Given the description of an element on the screen output the (x, y) to click on. 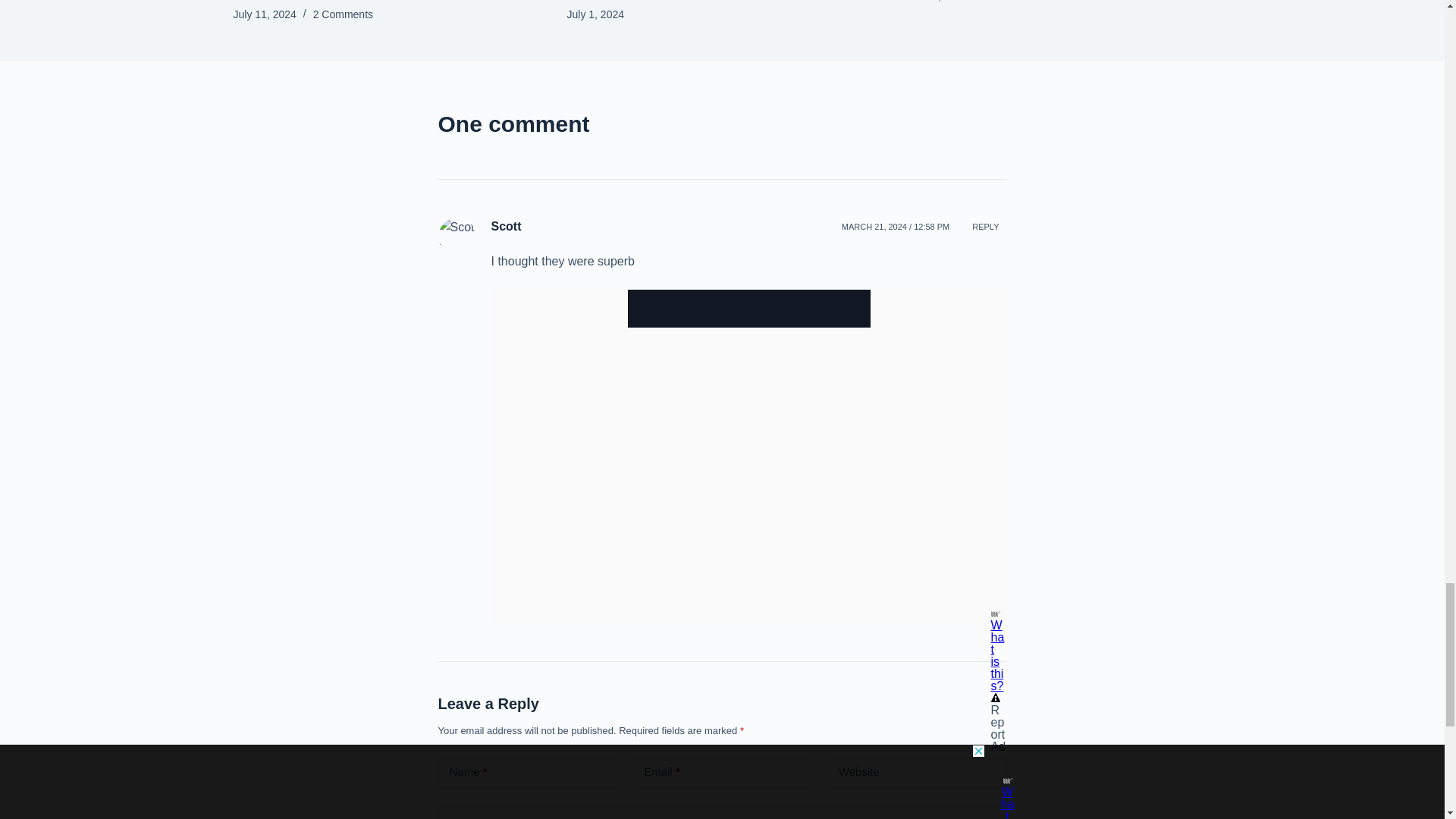
3rd party ad content (748, 308)
